Given the description of an element on the screen output the (x, y) to click on. 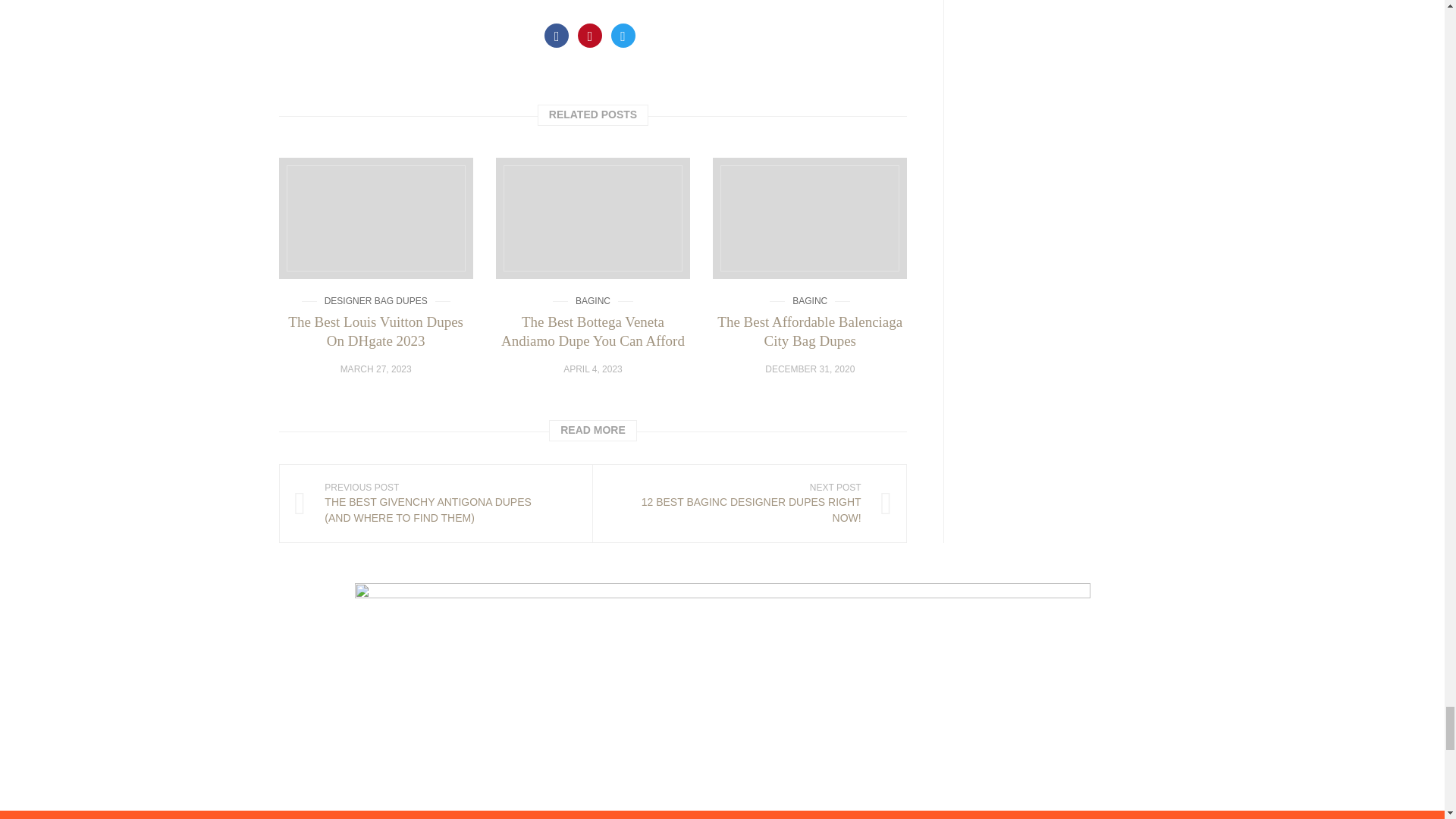
The Best Louis Vuitton Dupes On DHgate 2023 (376, 218)
12 Best Baginc Designer Dupes Right Now! (749, 503)
The Best Affordable Balenciaga City Bag Dupes (810, 218)
The Best Bottega Veneta Andiamo Dupe You Can Afford (593, 218)
